Given the description of an element on the screen output the (x, y) to click on. 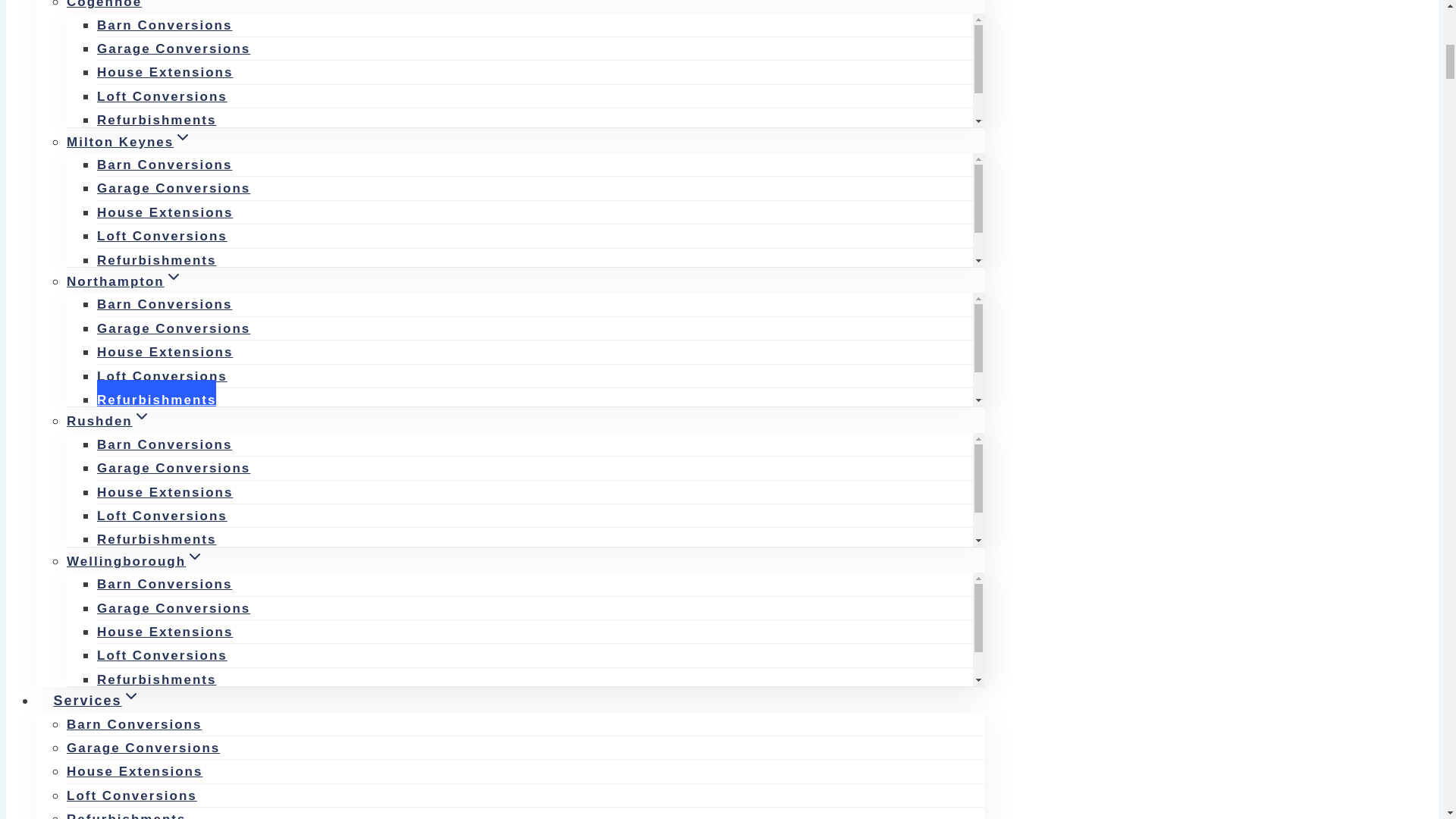
Renovations (143, 144)
Expand (141, 416)
Renovations (143, 12)
Refurbishments (156, 119)
Expand (150, 2)
Barn Conversions (164, 164)
Expand (173, 276)
Expand (194, 556)
Loft Conversions (162, 96)
Expand (130, 696)
Barn Conversions (164, 24)
Garage Conversions (173, 48)
House Extensions (164, 72)
Milton KeynesExpand (129, 142)
